Given the description of an element on the screen output the (x, y) to click on. 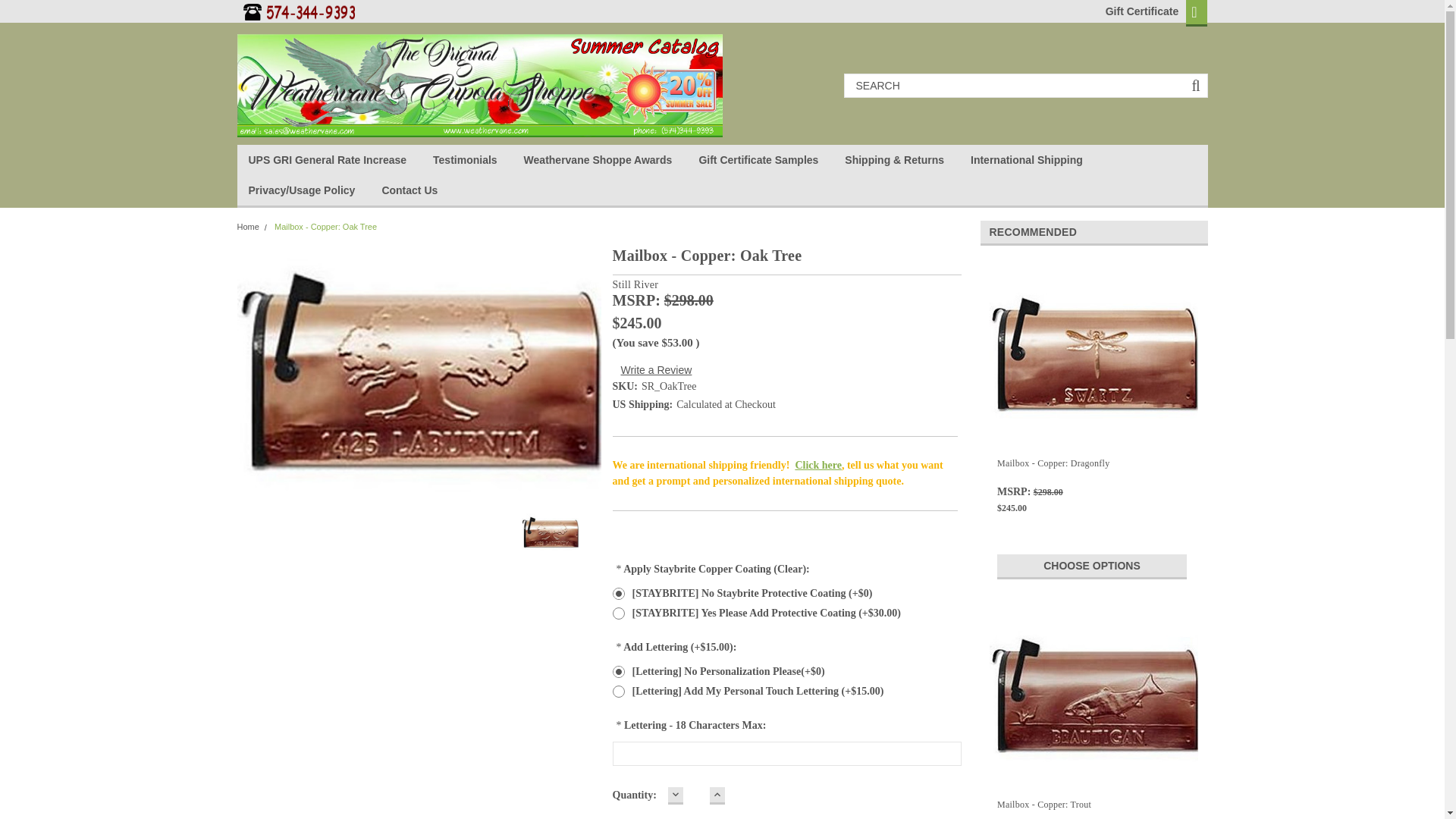
Mailbox - Copper: Oak Tree (417, 371)
Gift Certificate (1137, 11)
1 (696, 795)
Mailbox - Copper: Trout (1094, 694)
Mailbox - Copper: Oak Tree (549, 532)
Mailbox - Copper: Dragonfly (1094, 353)
